Given the description of an element on the screen output the (x, y) to click on. 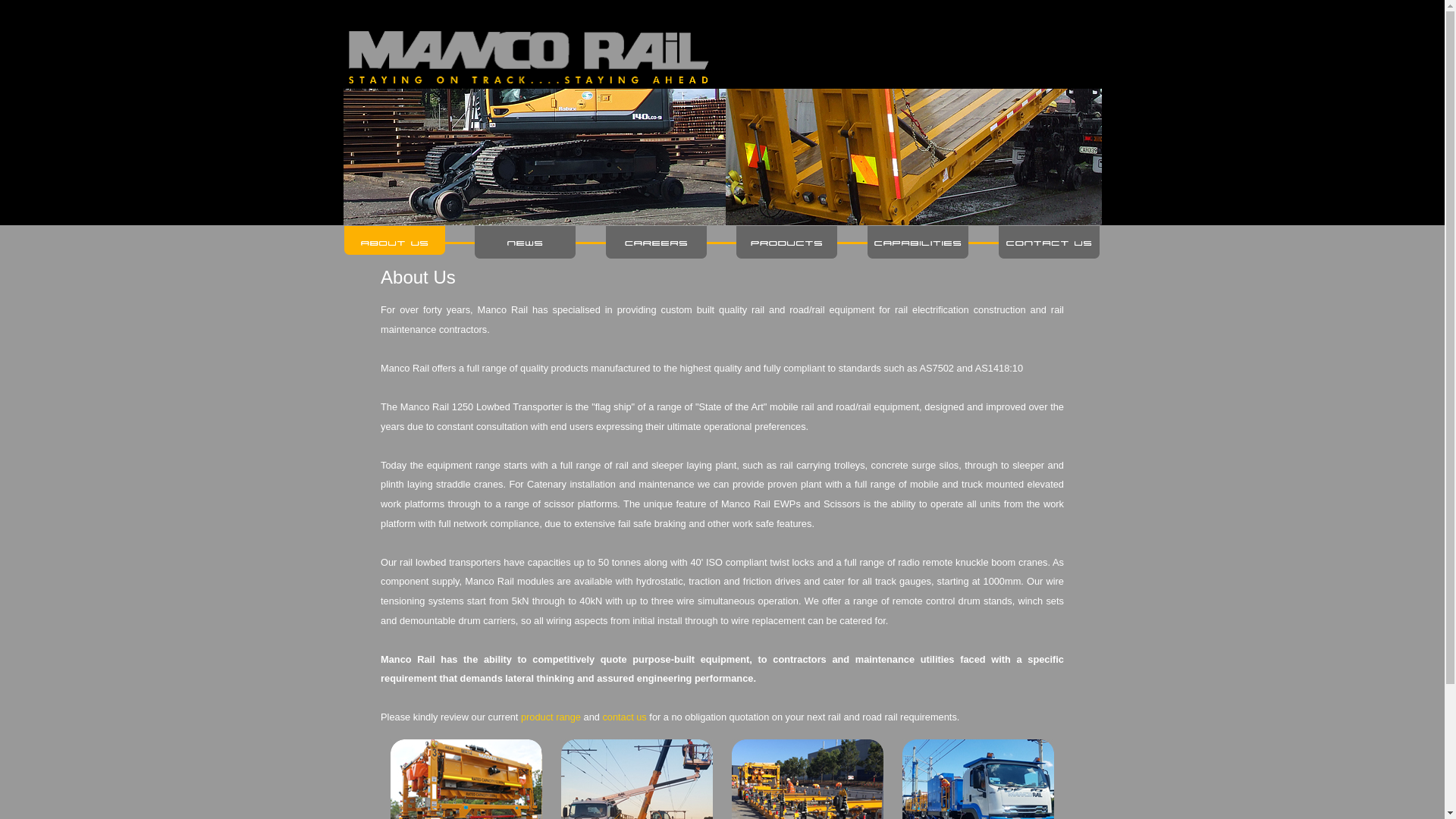
product range Element type: text (550, 716)
contact us Element type: text (624, 716)
